Given the description of an element on the screen output the (x, y) to click on. 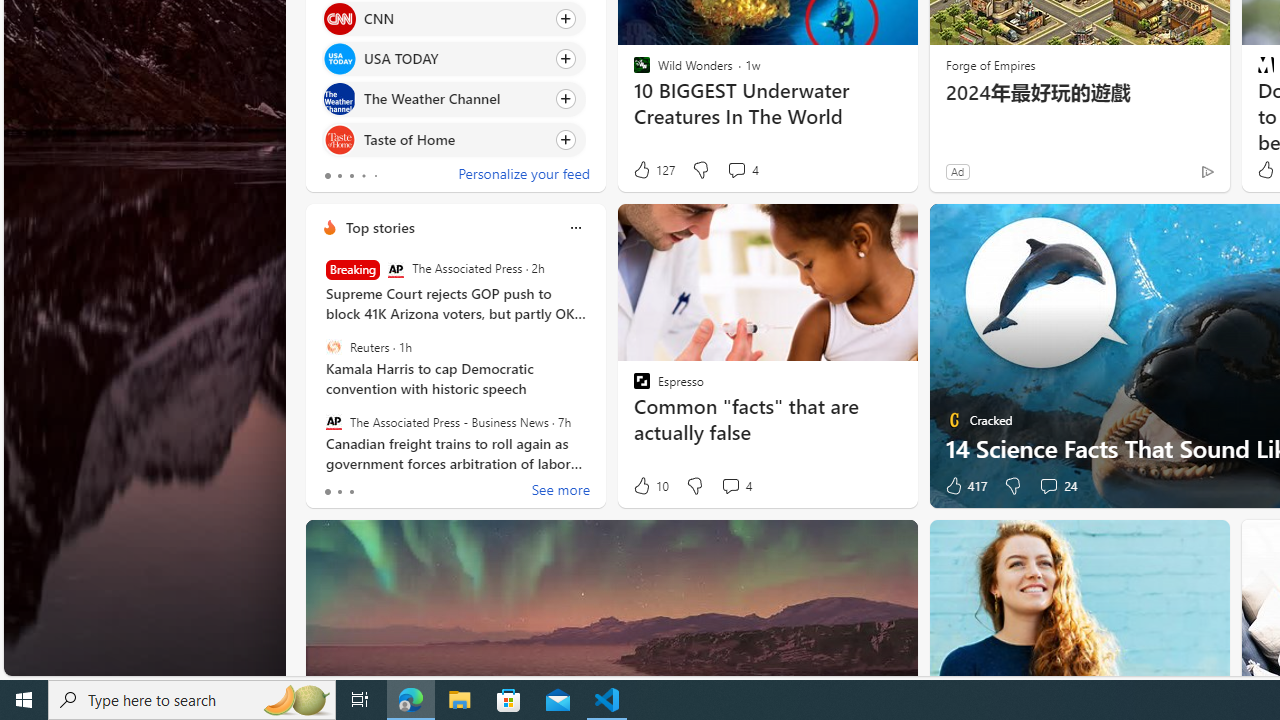
tab-2 (351, 491)
Personalize your feed (523, 175)
The Weather Channel (338, 98)
10 Like (650, 485)
Class: icon-img (575, 228)
The Associated Press (395, 270)
